Given the description of an element on the screen output the (x, y) to click on. 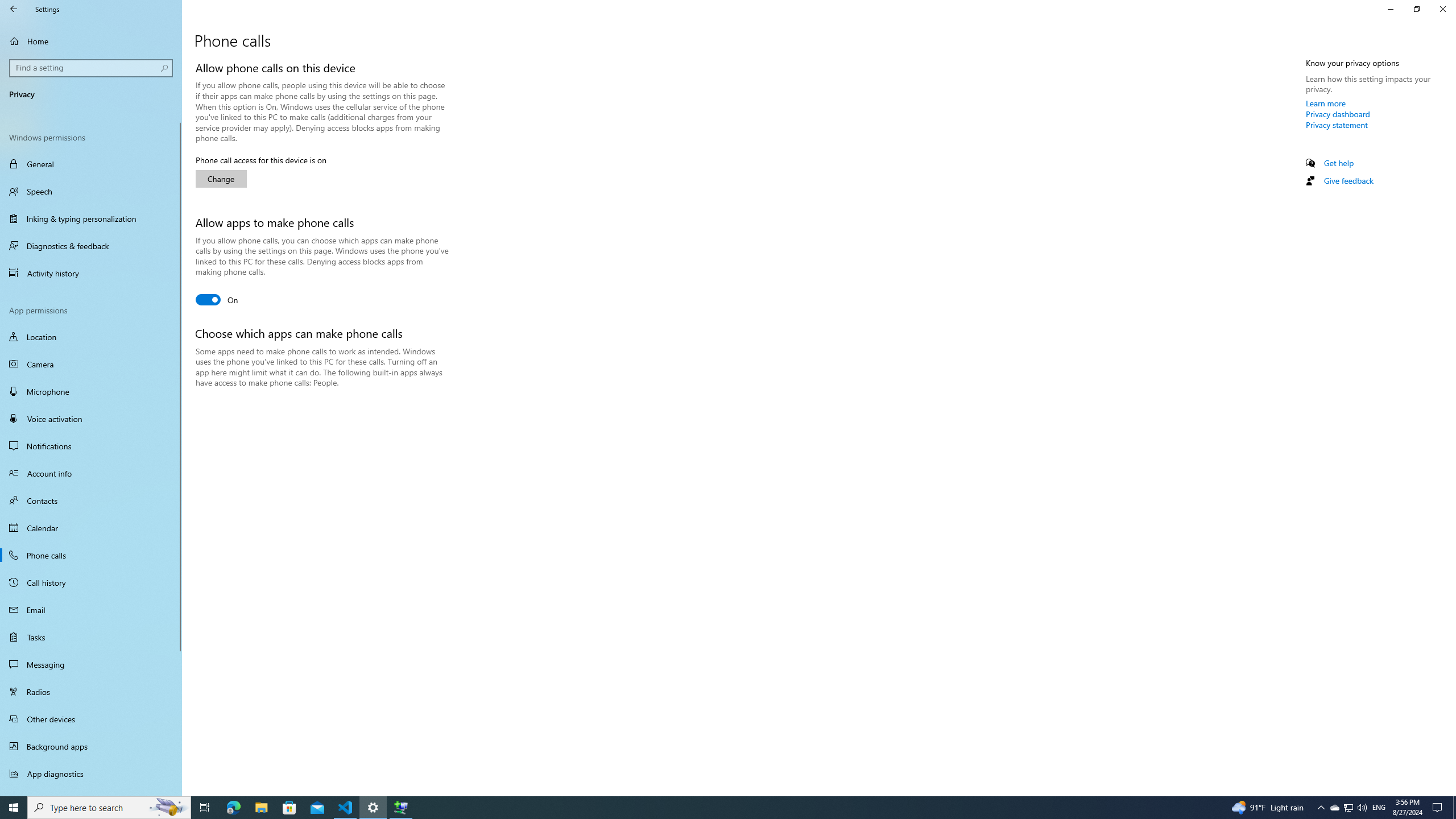
Activity history (91, 272)
Radios (1347, 807)
Restore Settings (91, 691)
Microphone (1416, 9)
Microsoft Edge (91, 390)
Visual Studio Code - 1 running window (233, 807)
Search box, Find a setting (345, 807)
Inking & typing personalization (91, 67)
Learn more (91, 217)
Settings - 1 running window (1326, 102)
Phone calls (373, 807)
Location (91, 554)
